Given the description of an element on the screen output the (x, y) to click on. 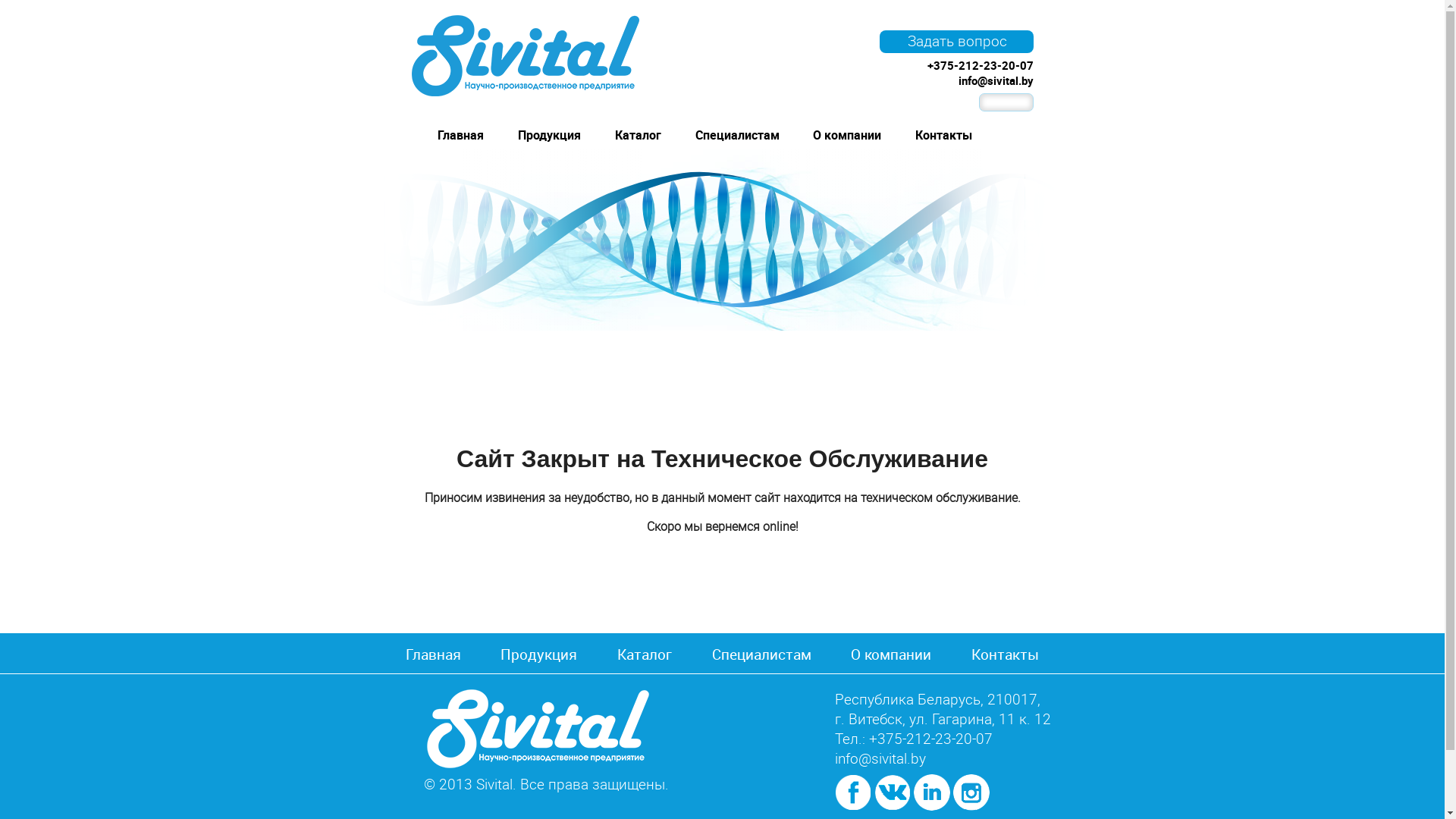
+375-212-23-20-07 Element type: text (979, 64)
info@sivital.by Element type: text (879, 758)
info@sivital.by Element type: text (995, 79)
+375-212-23-20-07 Element type: text (930, 738)
